Given the description of an element on the screen output the (x, y) to click on. 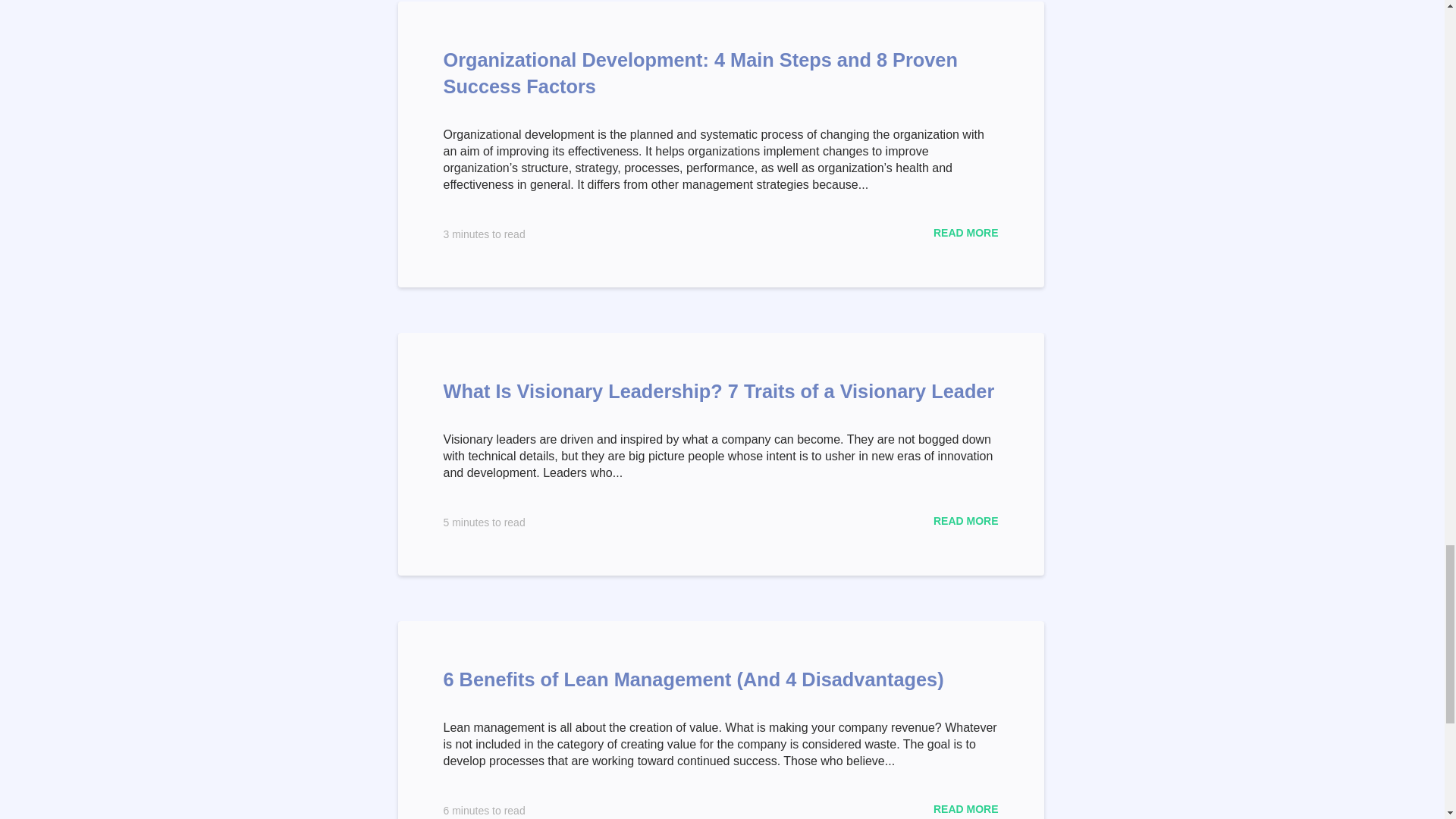
What Is Visionary Leadership? 7 Traits of a Visionary Leader (718, 391)
READ MORE (965, 232)
READ MORE (965, 520)
READ MORE (965, 808)
